Given the description of an element on the screen output the (x, y) to click on. 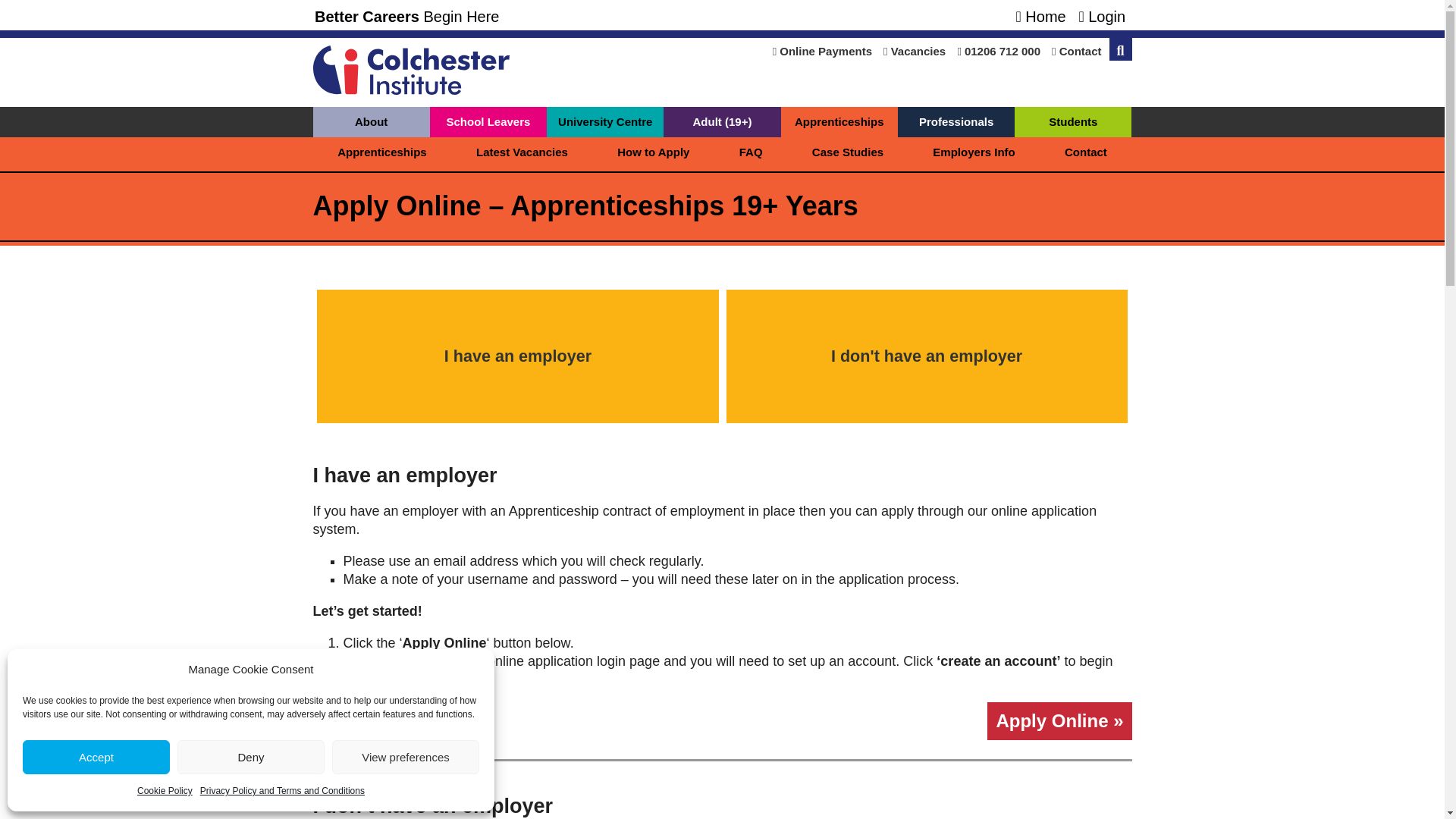
Deny (250, 756)
Colchester Institute (406, 16)
I have an employer (517, 356)
Online Payments (822, 51)
Online Payments (822, 51)
01206 712 000 (998, 51)
Accept (96, 756)
School Leavers (488, 122)
Vacancies (913, 51)
Colchester Institute (410, 89)
View preferences (405, 756)
I don't have an employer (926, 356)
Job Vacancies (913, 51)
Privacy Policy and Terms and Conditions (282, 791)
